Given the description of an element on the screen output the (x, y) to click on. 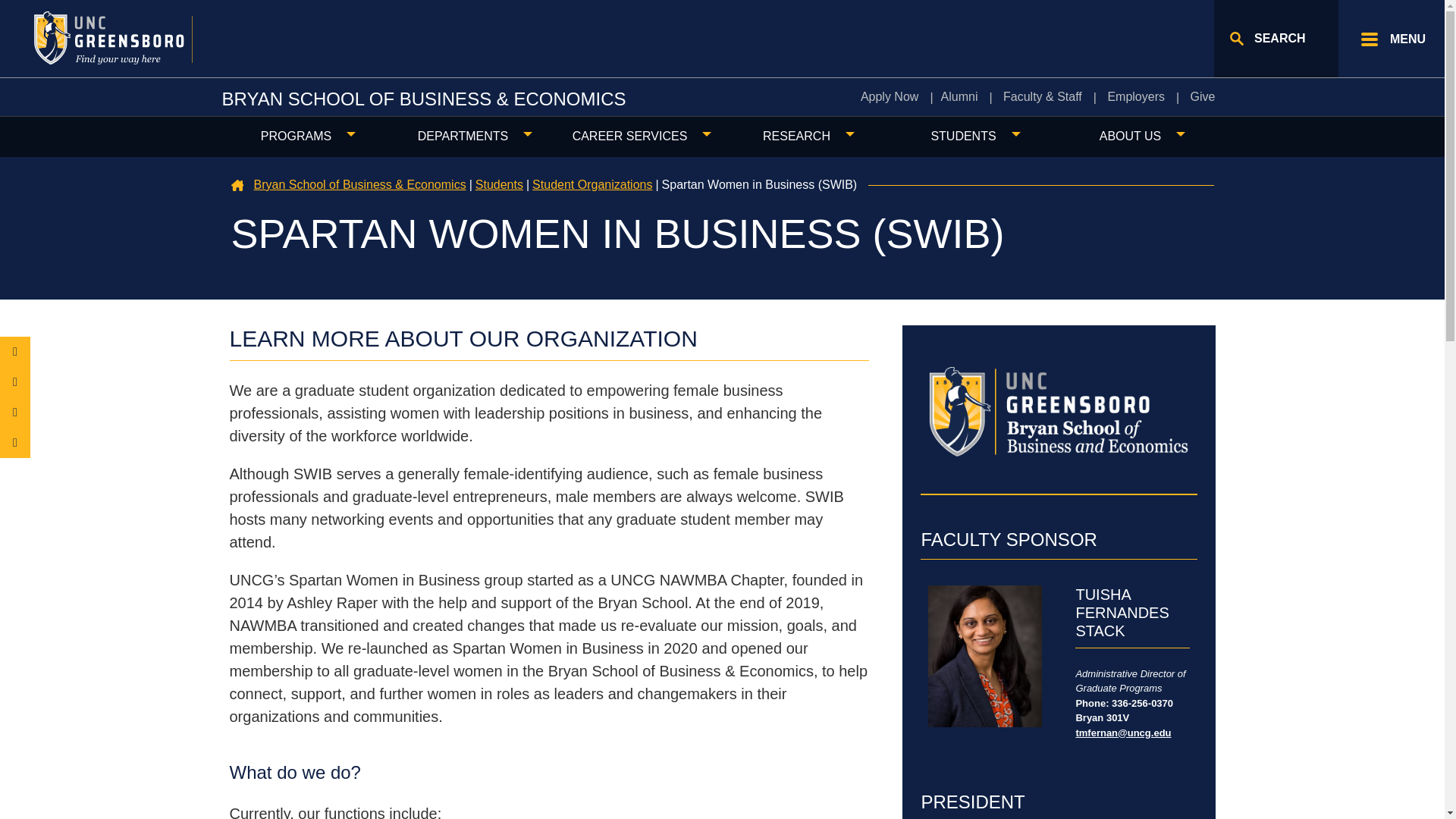
Apply Now (889, 96)
Search (1276, 38)
Go to Students. (499, 184)
UNC Greensboro (131, 37)
Go to Student Organizations. (592, 184)
